Given the description of an element on the screen output the (x, y) to click on. 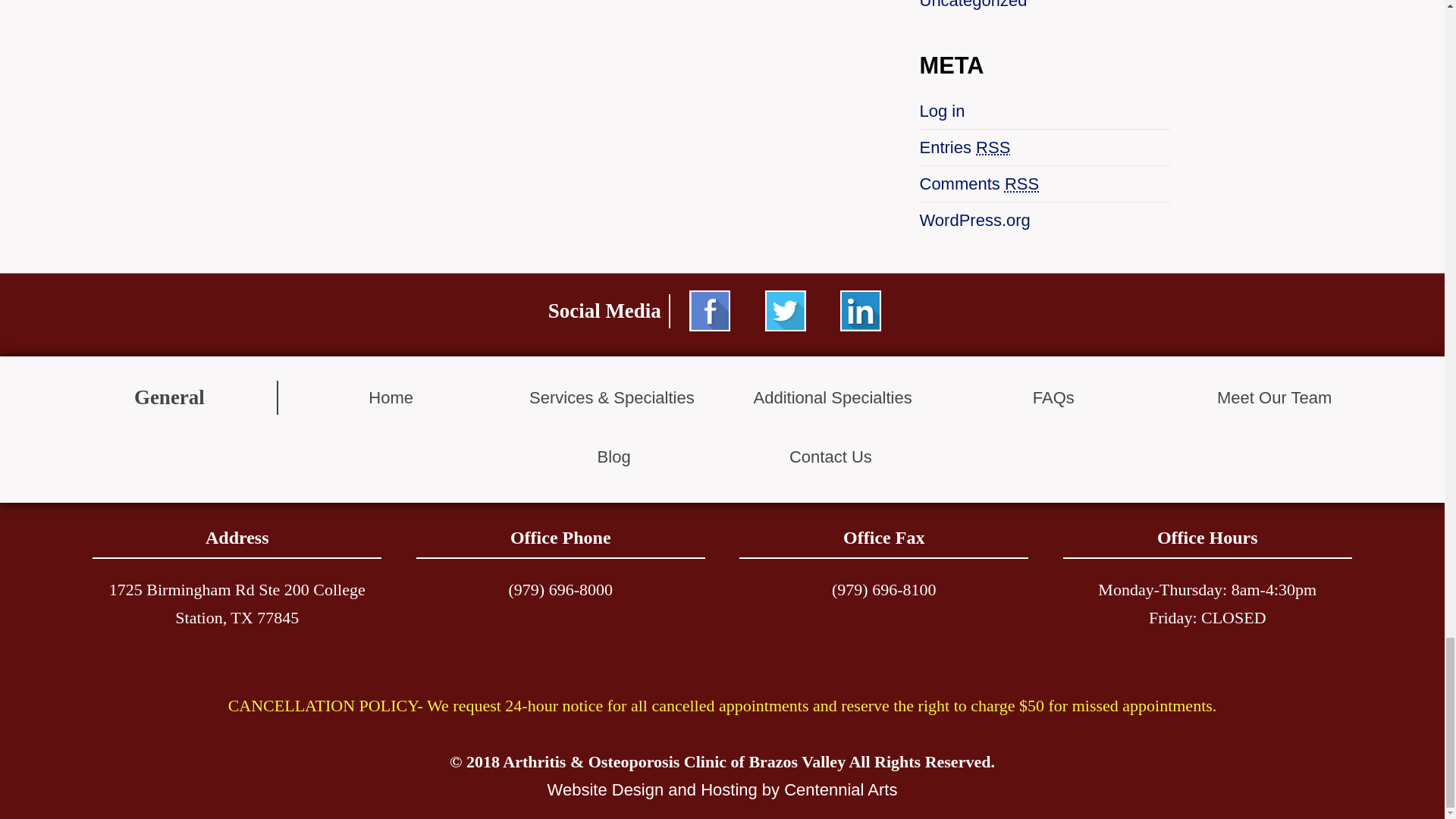
Really Simple Syndication (1021, 184)
Really Simple Syndication (992, 148)
